Given the description of an element on the screen output the (x, y) to click on. 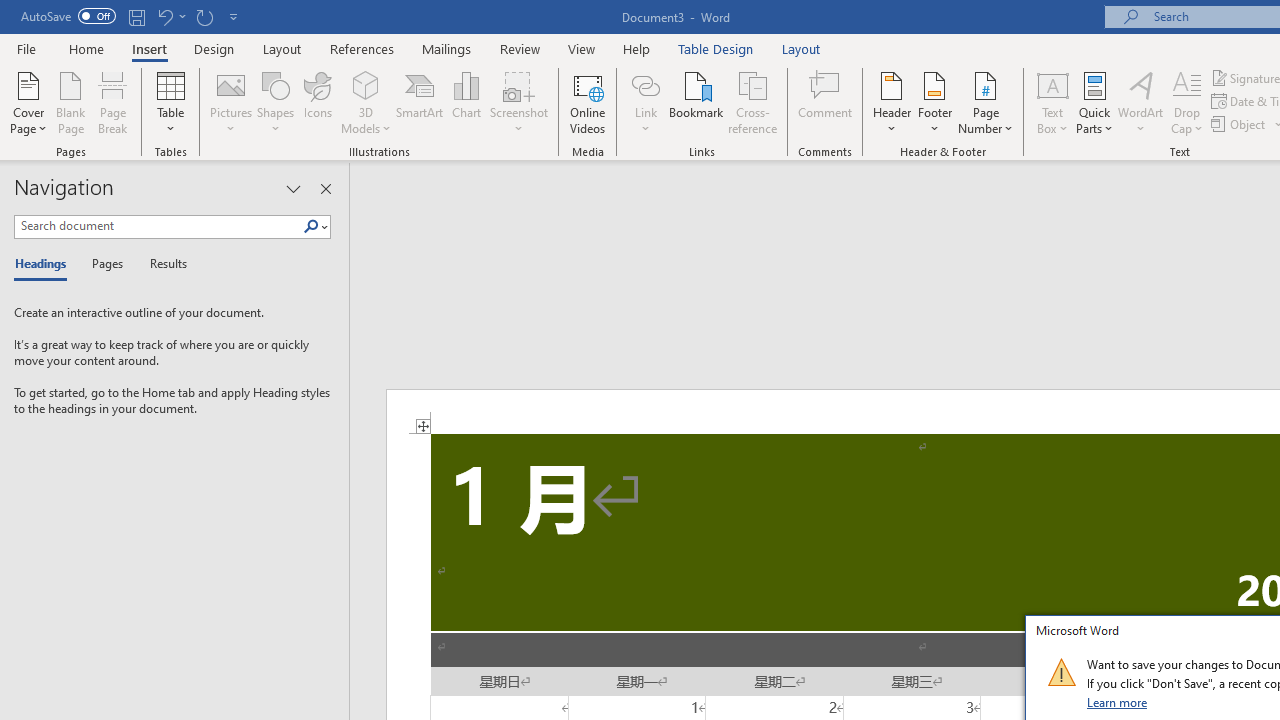
Search document (157, 226)
Shapes (275, 102)
Headings (45, 264)
Link (645, 84)
3D Models (366, 102)
Text Box (1052, 102)
WordArt (1141, 102)
Undo Increase Indent (170, 15)
Cross-reference... (752, 102)
